Given the description of an element on the screen output the (x, y) to click on. 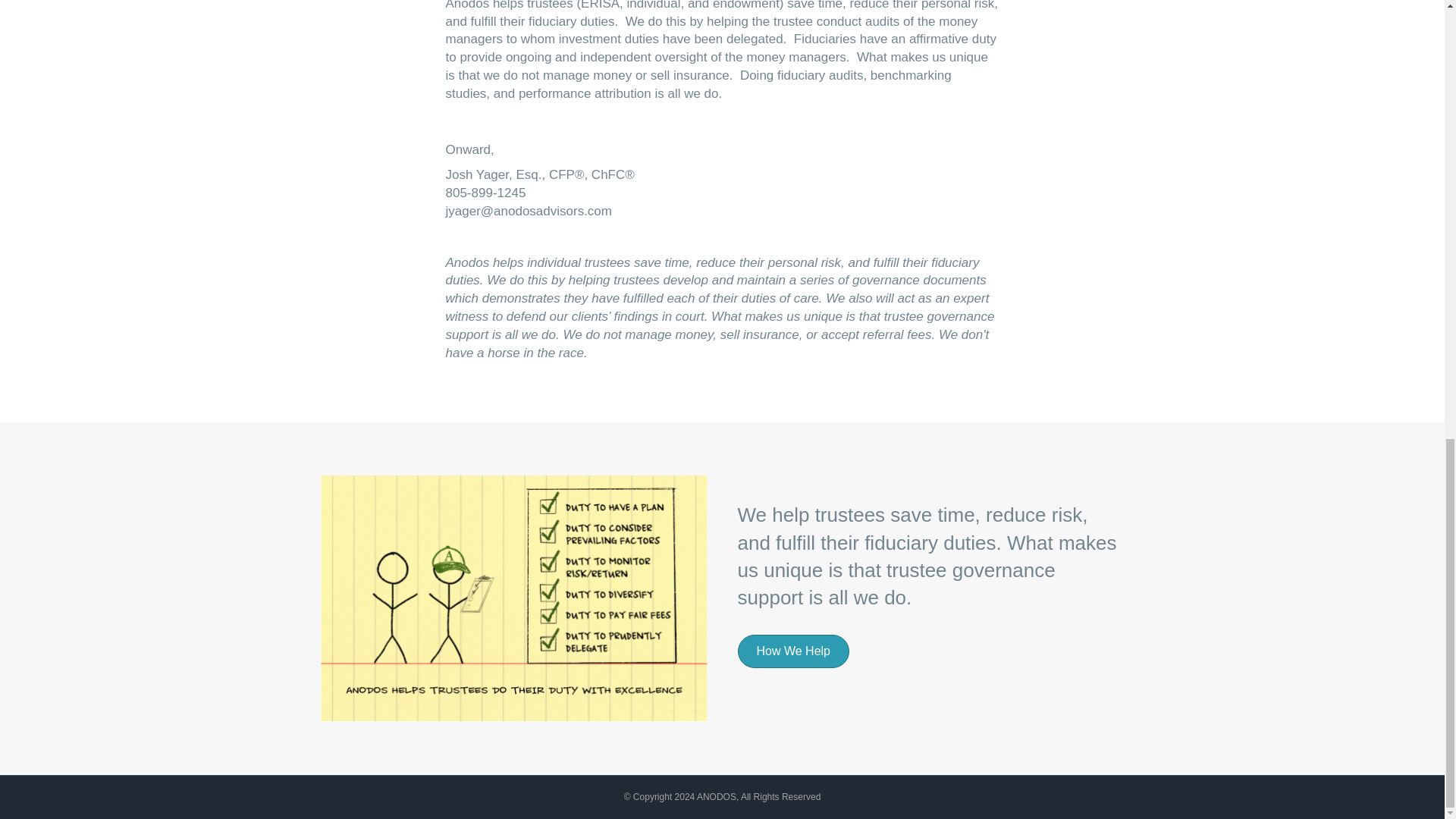
How We Help (792, 651)
